Given the description of an element on the screen output the (x, y) to click on. 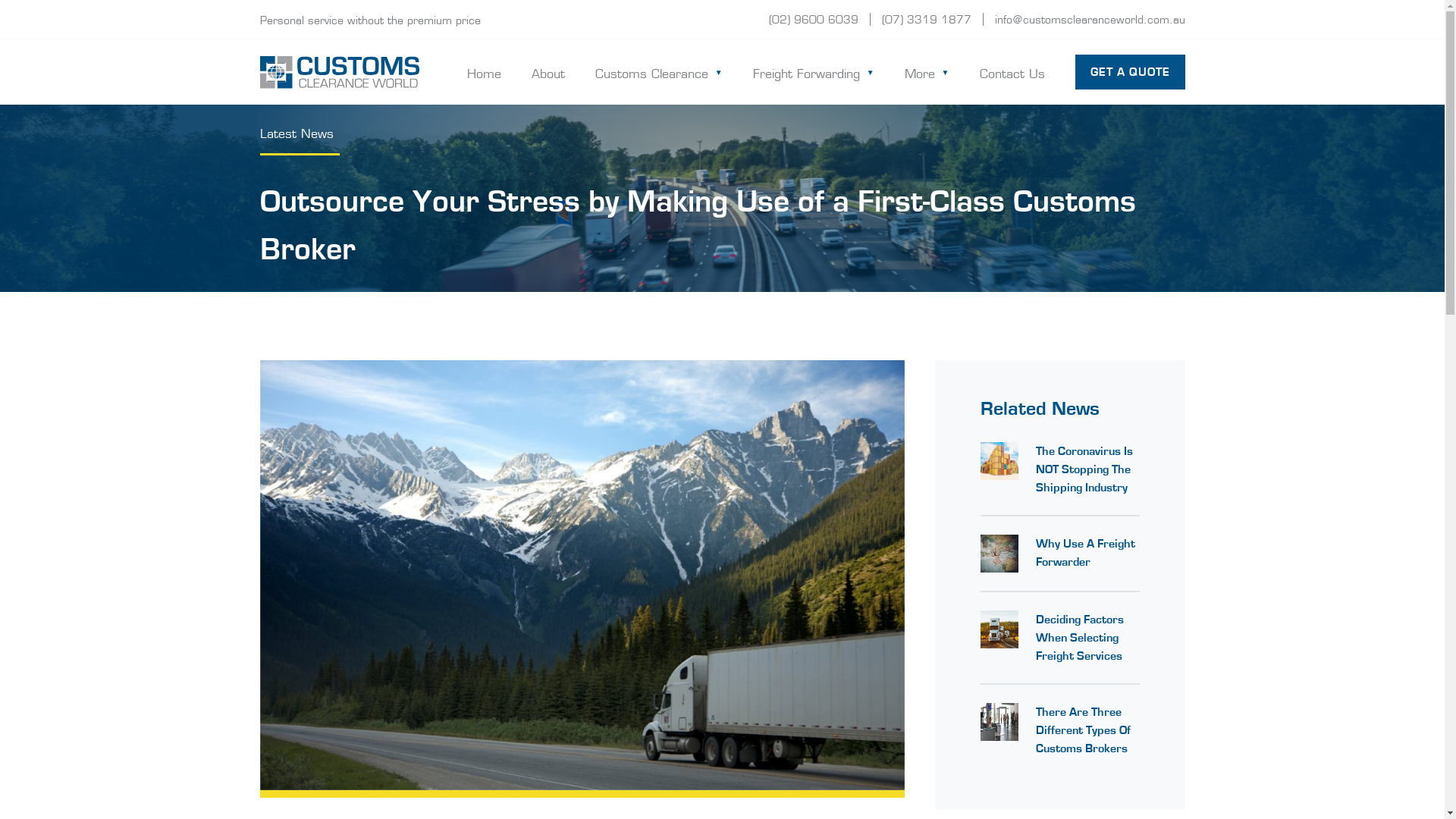
View Larger Image Element type: text (581, 575)
Customs Clearance Element type: text (658, 71)
Deciding Factors When Selecting Freight Services Element type: text (1079, 637)
The Coronavirus Is NOT Stopping The Shipping Industry Element type: text (1083, 469)
info@customsclearanceworld.com.au Element type: text (1089, 18)
More Element type: text (926, 71)
Contact Us Element type: text (1012, 71)
Home Element type: text (483, 71)
GET A QUOTE Element type: text (1130, 71)
Freight Forwarding Element type: text (813, 71)
(02) 9600 6039 Element type: text (813, 18)
(07) 3319 1877 Element type: text (925, 18)
There Are Three Different Types Of Customs Brokers Element type: text (1082, 730)
About Element type: text (548, 71)
Why Use A Freight Forwarder Element type: text (1085, 552)
